Given the description of an element on the screen output the (x, y) to click on. 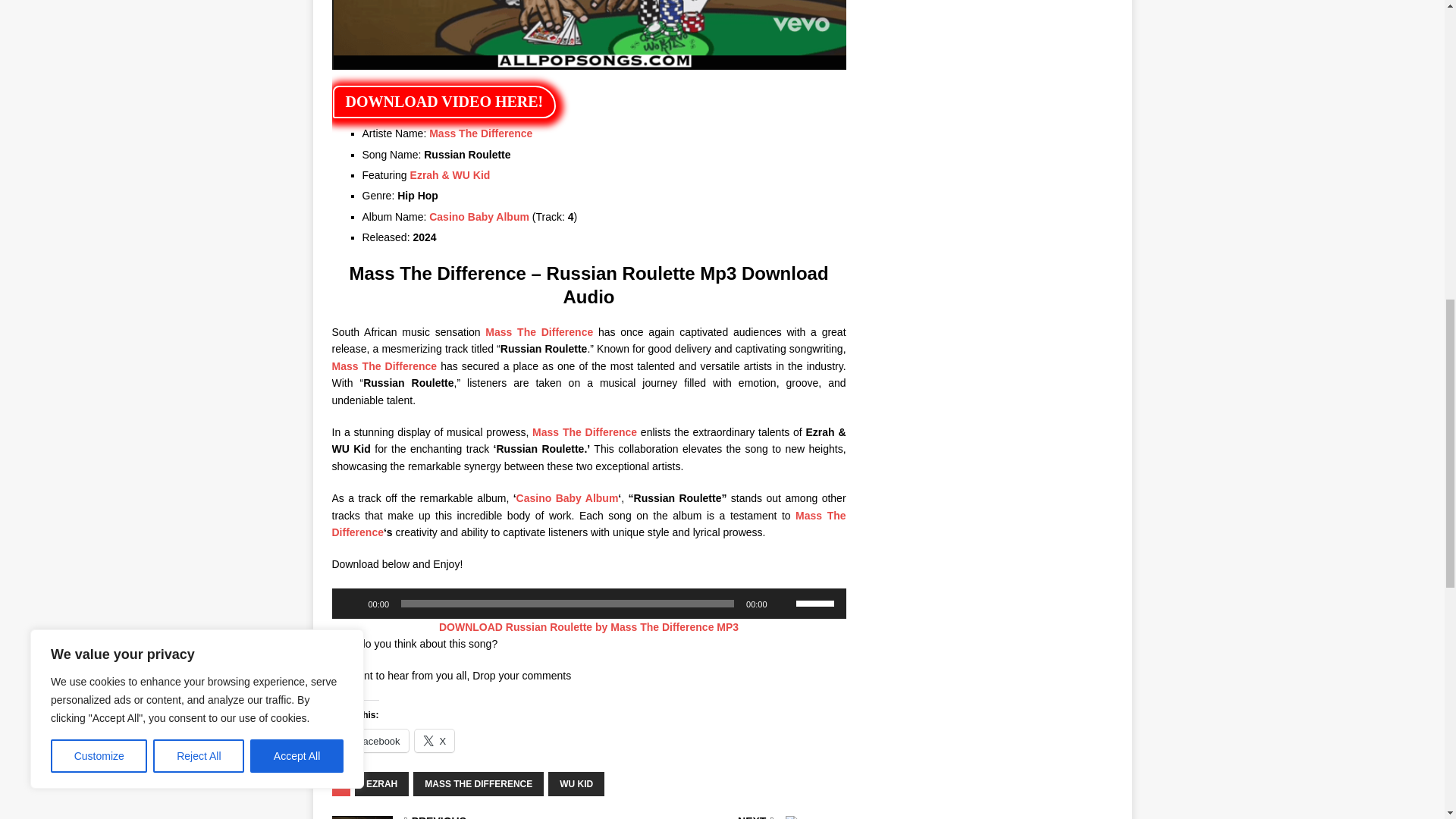
Play (351, 603)
Casino Baby Album (567, 498)
Facebook (370, 740)
Click to share on Facebook (370, 740)
X (434, 740)
DOWNLOAD Russian Roulette by Mass The Difference MP3 (588, 626)
Mass The Difference (584, 431)
Mass The Difference (588, 523)
Click to share on X (434, 740)
Mute (784, 603)
Mass The Difference (538, 331)
DOWNLOAD VIDEO HERE! (443, 101)
Mass The Difference (480, 133)
Casino Baby Album (479, 216)
Mass The Difference (384, 366)
